Given the description of an element on the screen output the (x, y) to click on. 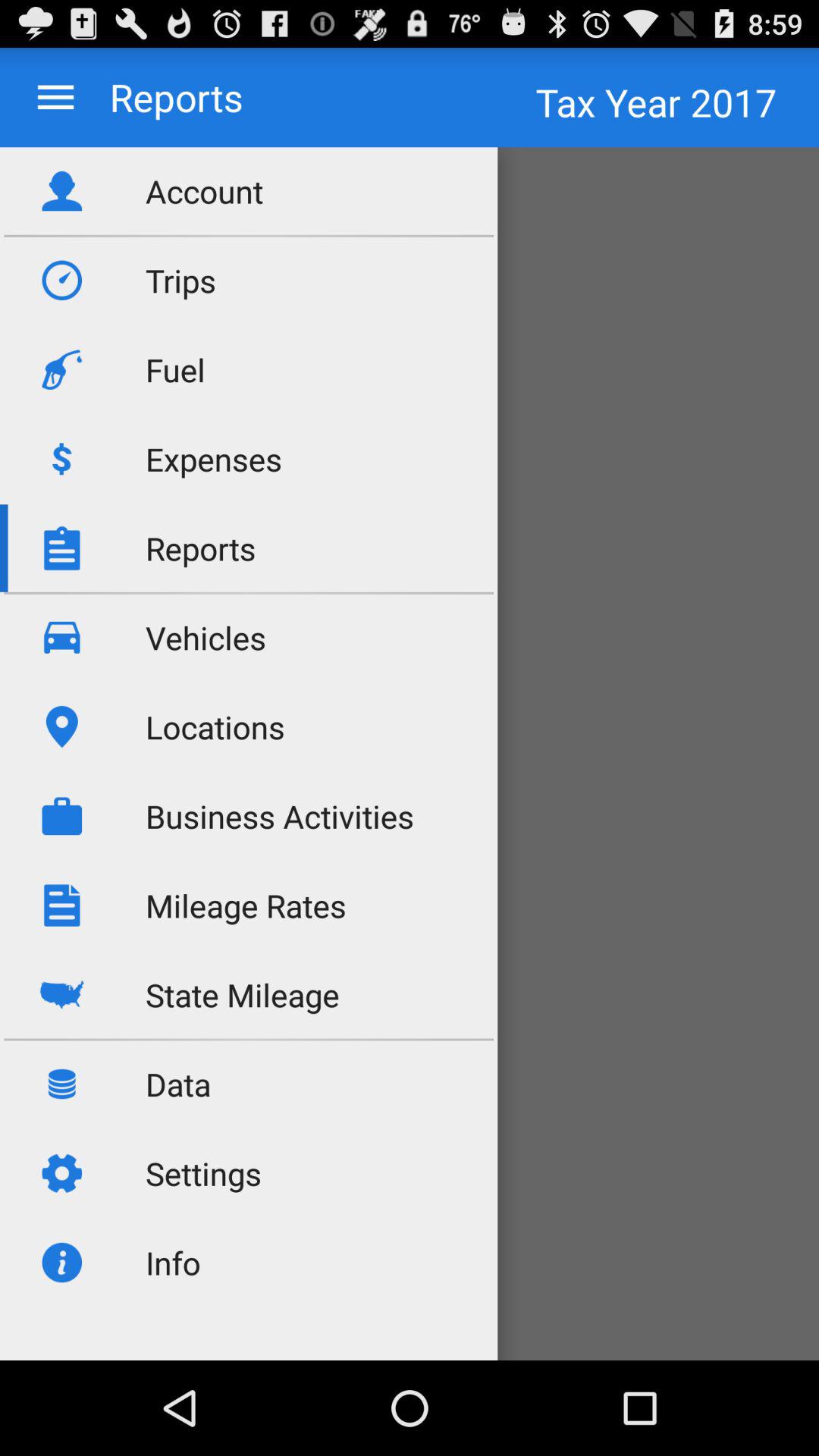
flip until info app (172, 1262)
